Given the description of an element on the screen output the (x, y) to click on. 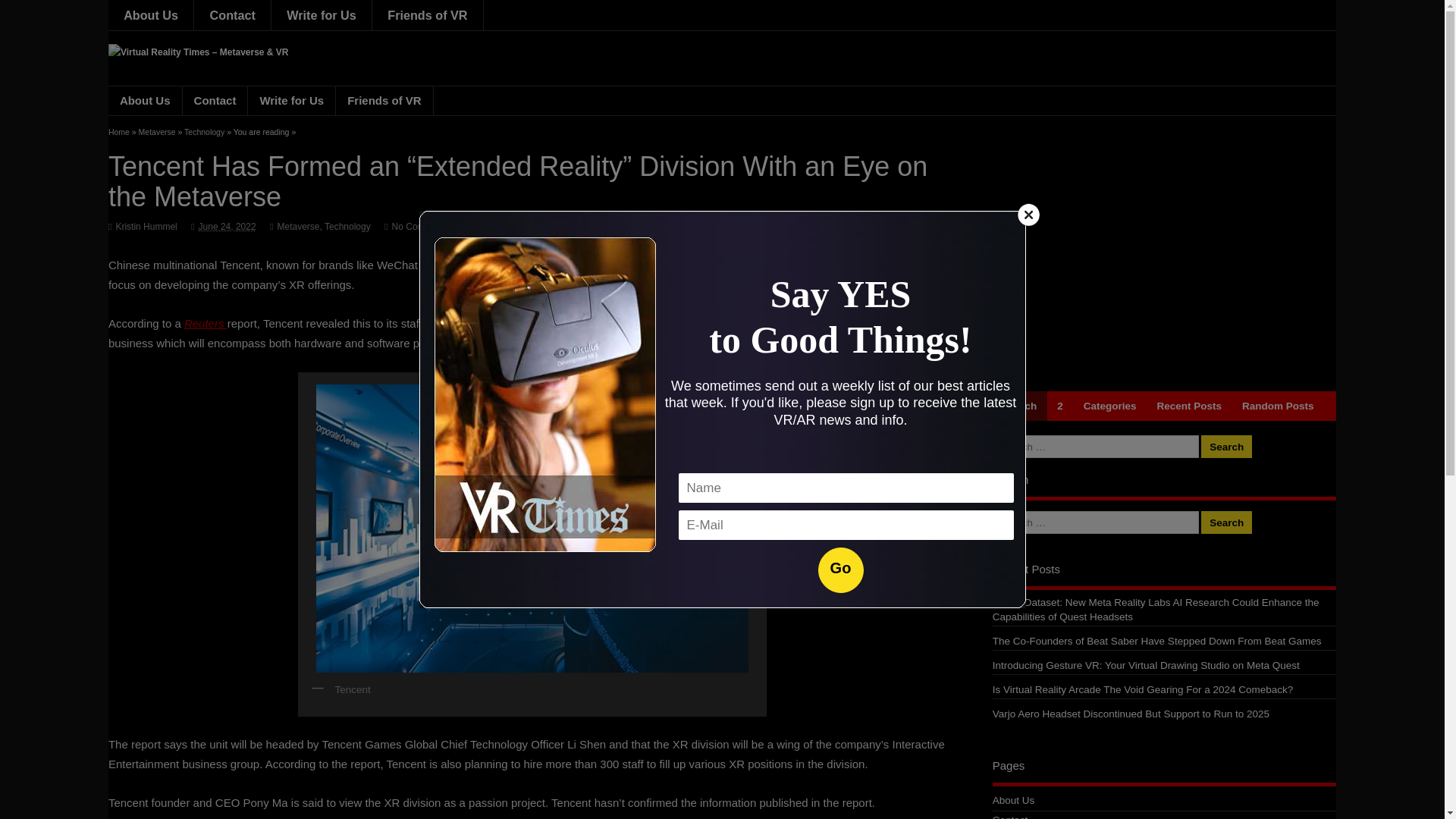
Search (1226, 522)
Search (1226, 446)
Posts by Kristin Hummel (145, 226)
Go (839, 569)
2 (1060, 405)
Recent Posts (1189, 405)
Random Posts (1277, 405)
Categories (1110, 405)
About Us (150, 15)
Search (1226, 446)
Write for Us (321, 15)
Friends of VR (427, 15)
Search (1226, 522)
Advertisement (1163, 257)
Search (1019, 405)
